Given the description of an element on the screen output the (x, y) to click on. 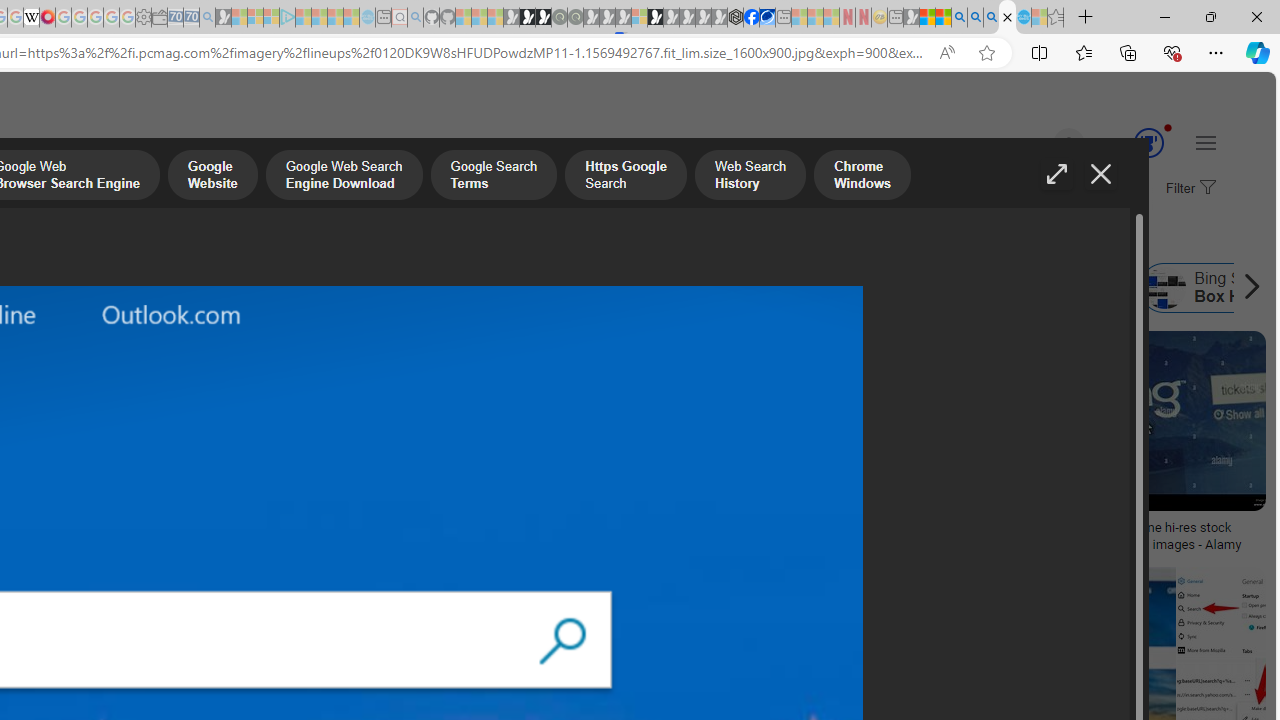
Animation (1167, 127)
Sign in to your account - Sleeping (639, 17)
AutomationID: rh_meter (1148, 142)
Target page - Wikipedia (31, 17)
Future Focus Report 2024 - Sleeping (575, 17)
Related ProductsT-ShirtsHoodiesMugs (136, 444)
Google Search Terms (493, 177)
Bing AI - Search (959, 17)
Filter (1188, 189)
github - Search - Sleeping (415, 17)
